Given the description of an element on the screen output the (x, y) to click on. 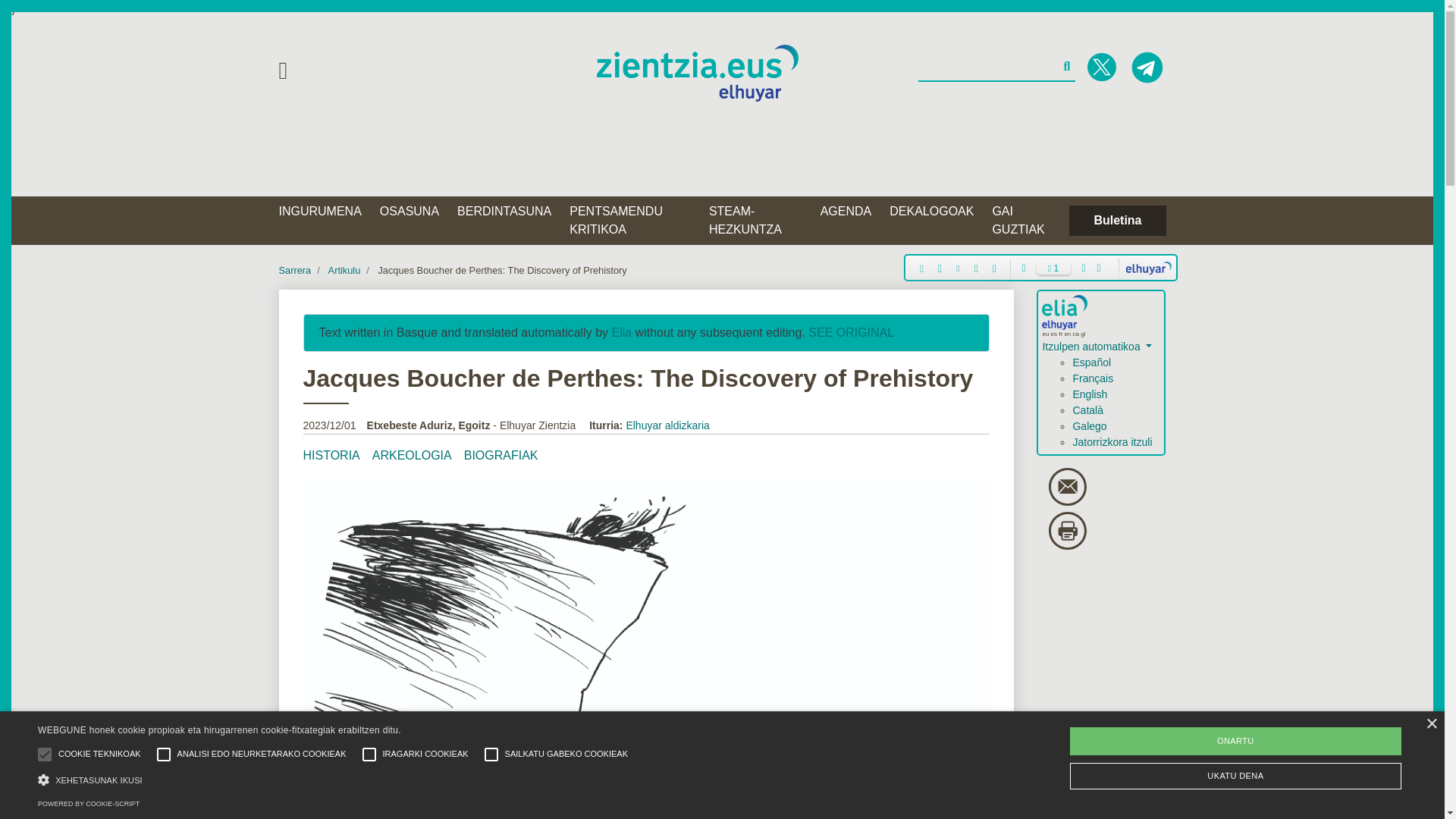
Zientzia.eus-en bilatzailea (996, 67)
Twitter (1101, 67)
OSASUNA (412, 211)
PENTSAMENDU KRITIKOA (633, 220)
GAI GUZTIAK (1024, 220)
Sarrera (295, 270)
3rd party ad content (722, 150)
INGURUMENA (323, 211)
DEKALOGOAK (934, 211)
Buletina (1117, 220)
BERDINTASUNA (507, 211)
Artikulu (345, 270)
AGENDA (849, 211)
Irakurketaren abiadura (1052, 266)
Twitter (1147, 67)
